Given the description of an element on the screen output the (x, y) to click on. 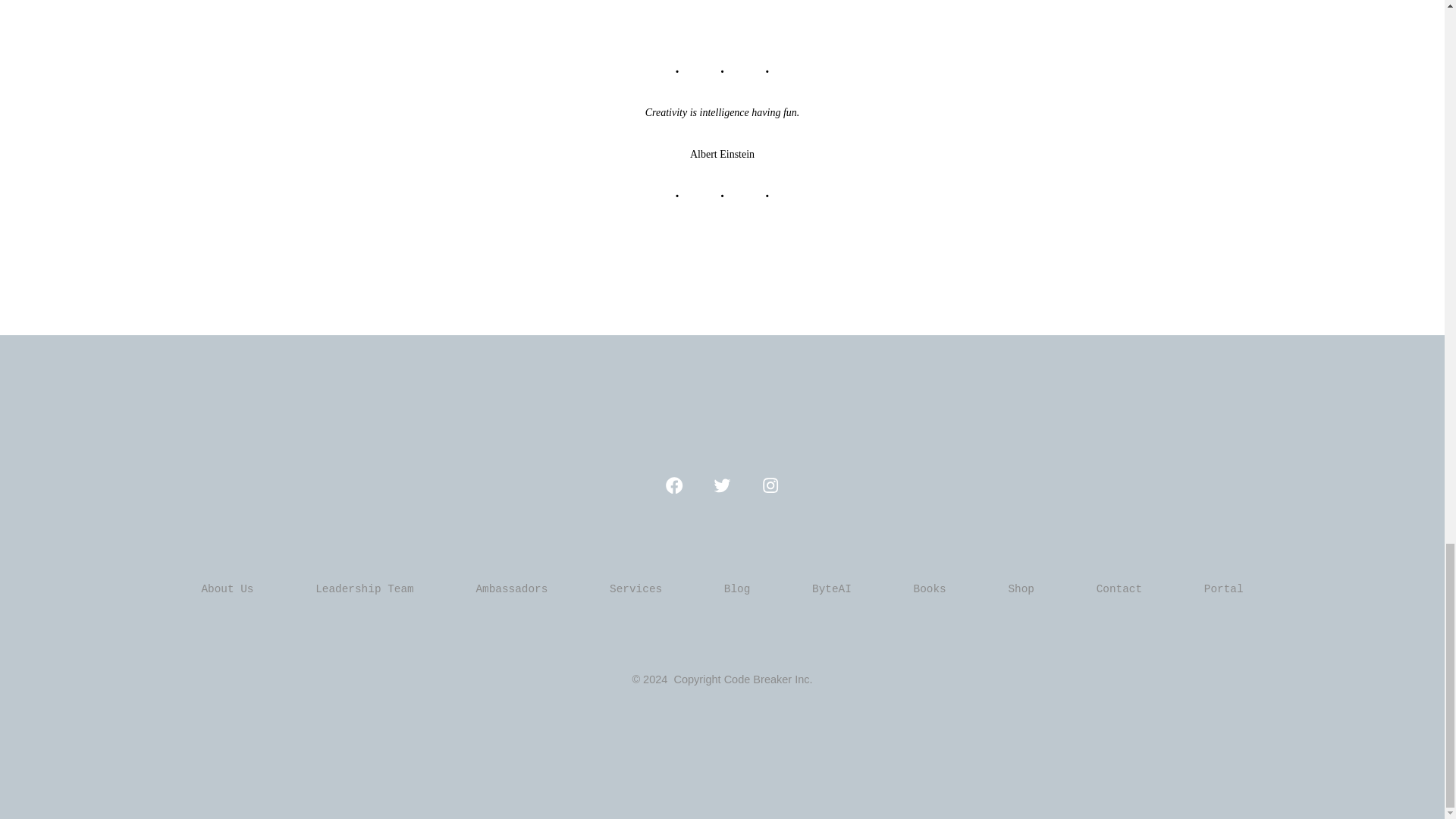
Open Facebook in a new tab (673, 484)
